Given the description of an element on the screen output the (x, y) to click on. 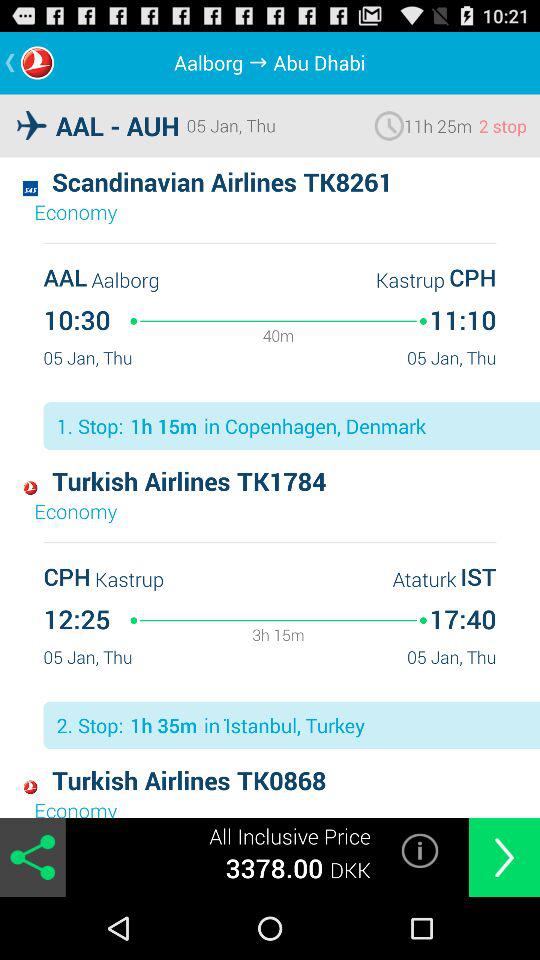
information (419, 850)
